Given the description of an element on the screen output the (x, y) to click on. 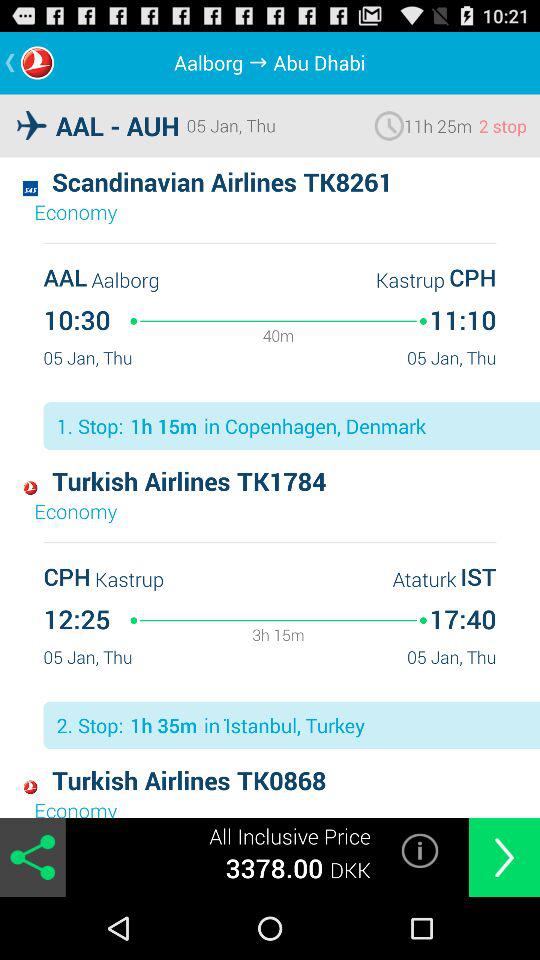
information (419, 850)
